Given the description of an element on the screen output the (x, y) to click on. 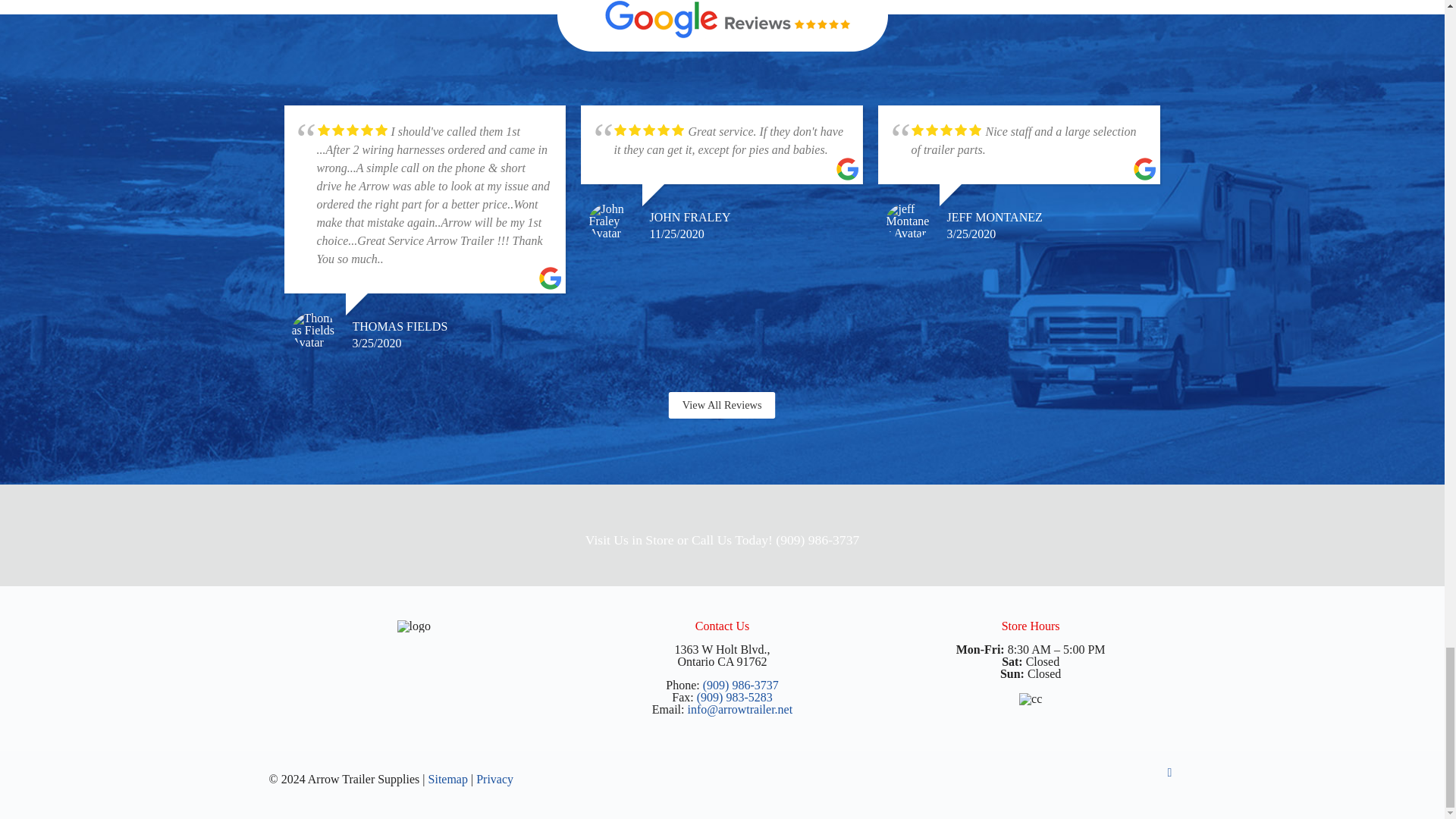
Privacy (494, 779)
Sitemap (447, 779)
View All Reviews (727, 406)
